Given the description of an element on the screen output the (x, y) to click on. 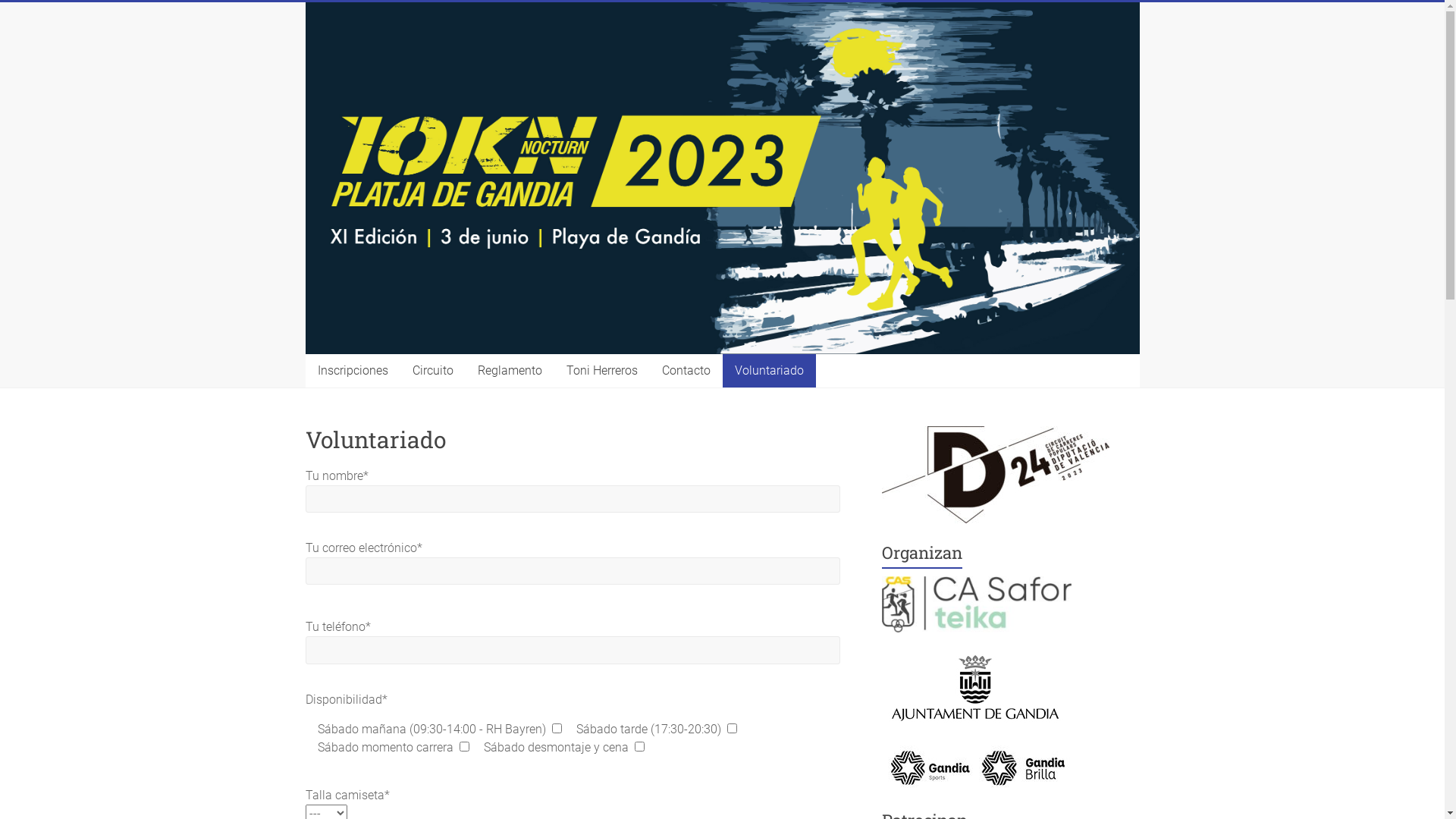
Reglamento Element type: text (509, 370)
Circuito Element type: text (432, 370)
Inscripciones Element type: text (351, 370)
Voluntariado Element type: text (768, 370)
Toni Herreros Element type: text (601, 370)
Organiza Element type: hover (976, 604)
10K Nocturno Playa de Gandia Element type: text (396, 433)
Contacto Element type: text (685, 370)
